Given the description of an element on the screen output the (x, y) to click on. 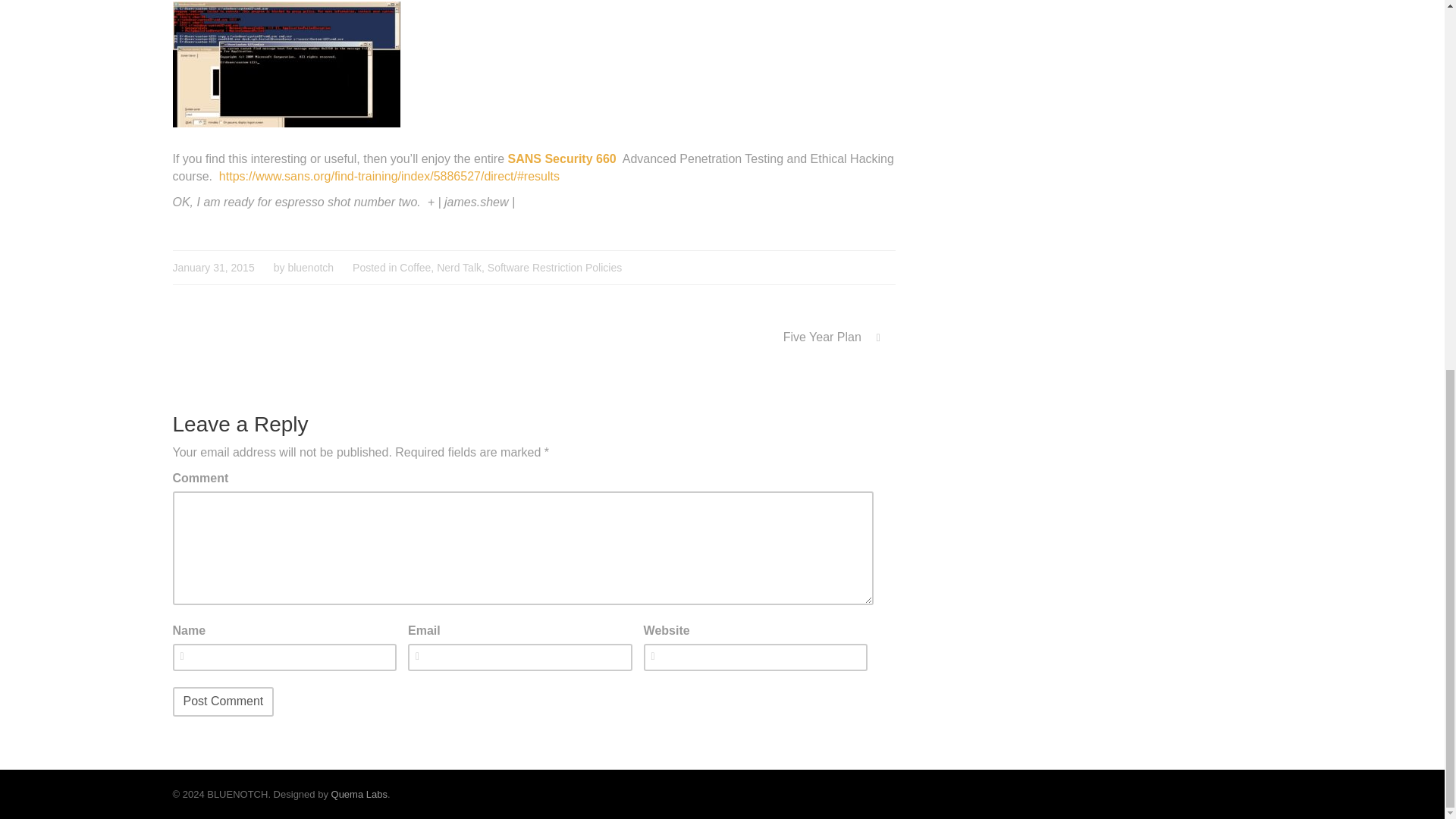
Post Comment (224, 701)
SANS Security 660 (561, 158)
bluenotch (309, 267)
Post Comment (224, 701)
SANS Security 660 (561, 158)
Quema Labs (359, 794)
Software Restriction Policies (554, 267)
Five Year Plan (830, 337)
Nerd Talk (458, 267)
Coffee (414, 267)
